Given the description of an element on the screen output the (x, y) to click on. 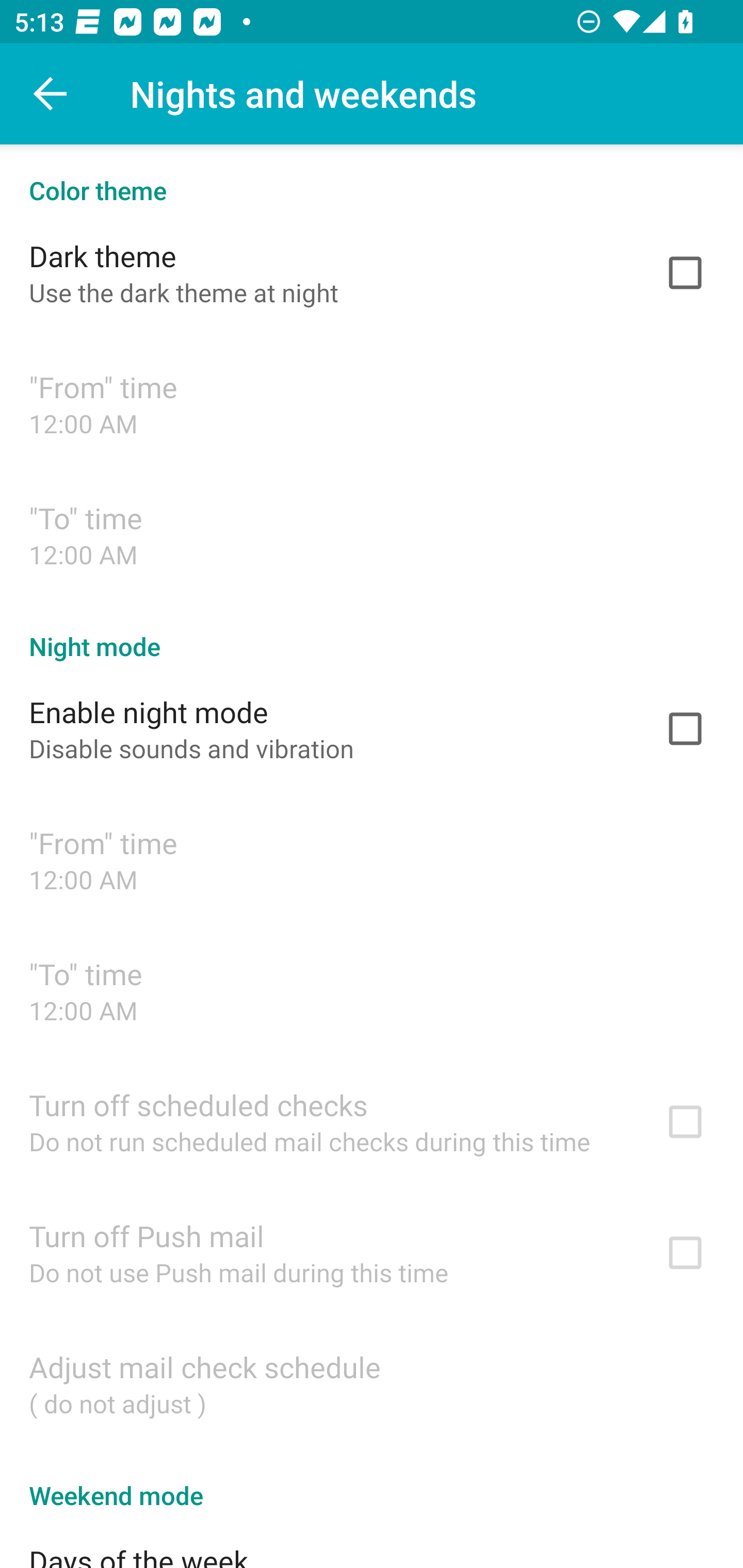
Navigate up (50, 93)
Dark theme Use the dark theme at night (371, 272)
"From" time 12:00 AM (371, 403)
"To" time 12:00 AM (371, 534)
Enable night mode Disable sounds and vibration (371, 728)
"From" time 12:00 AM (371, 859)
"To" time 12:00 AM (371, 990)
Adjust mail check schedule ( do not adjust ) (371, 1383)
